Given the description of an element on the screen output the (x, y) to click on. 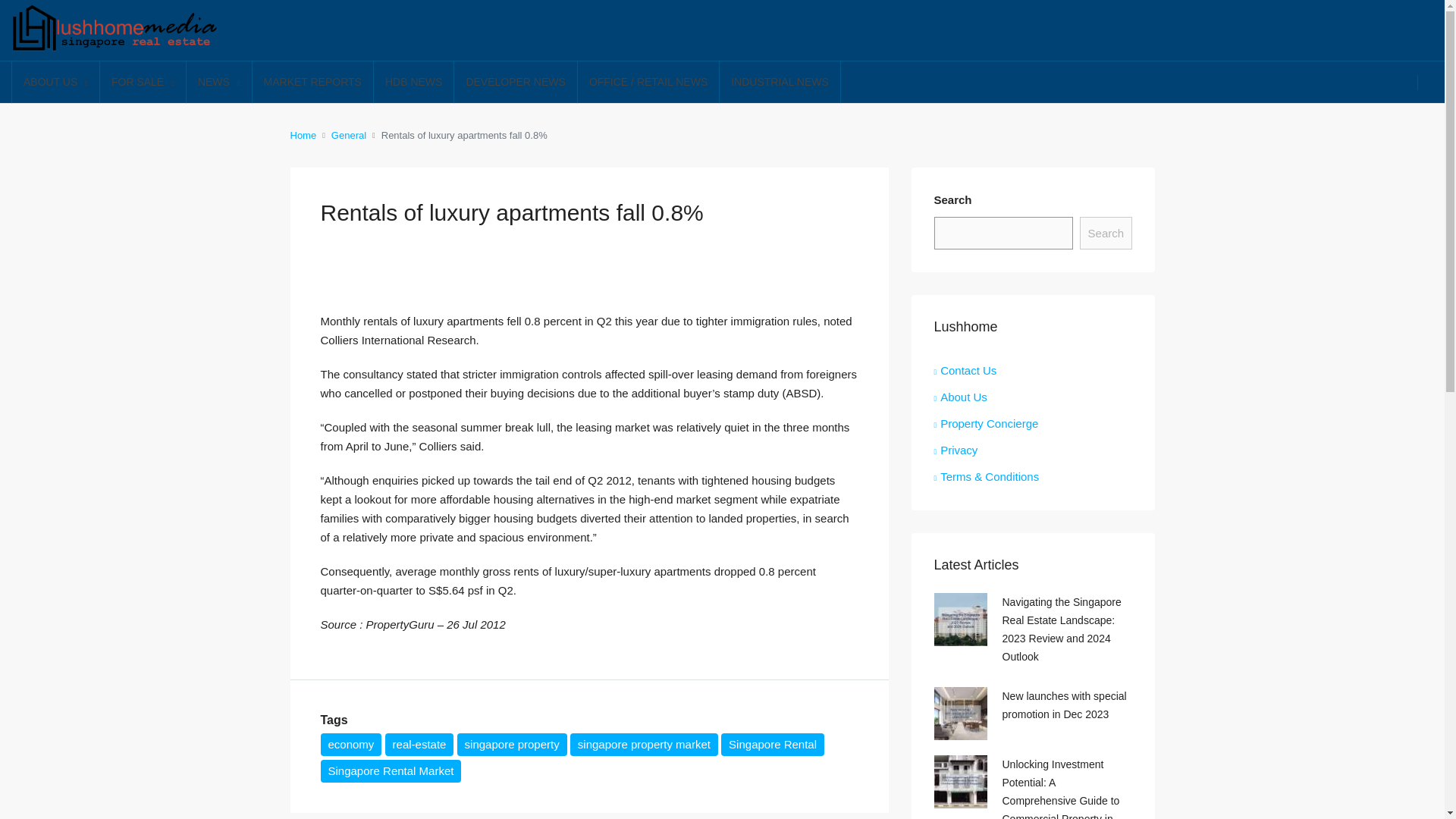
ABOUT US (55, 82)
FOR SALE (143, 82)
